Given the description of an element on the screen output the (x, y) to click on. 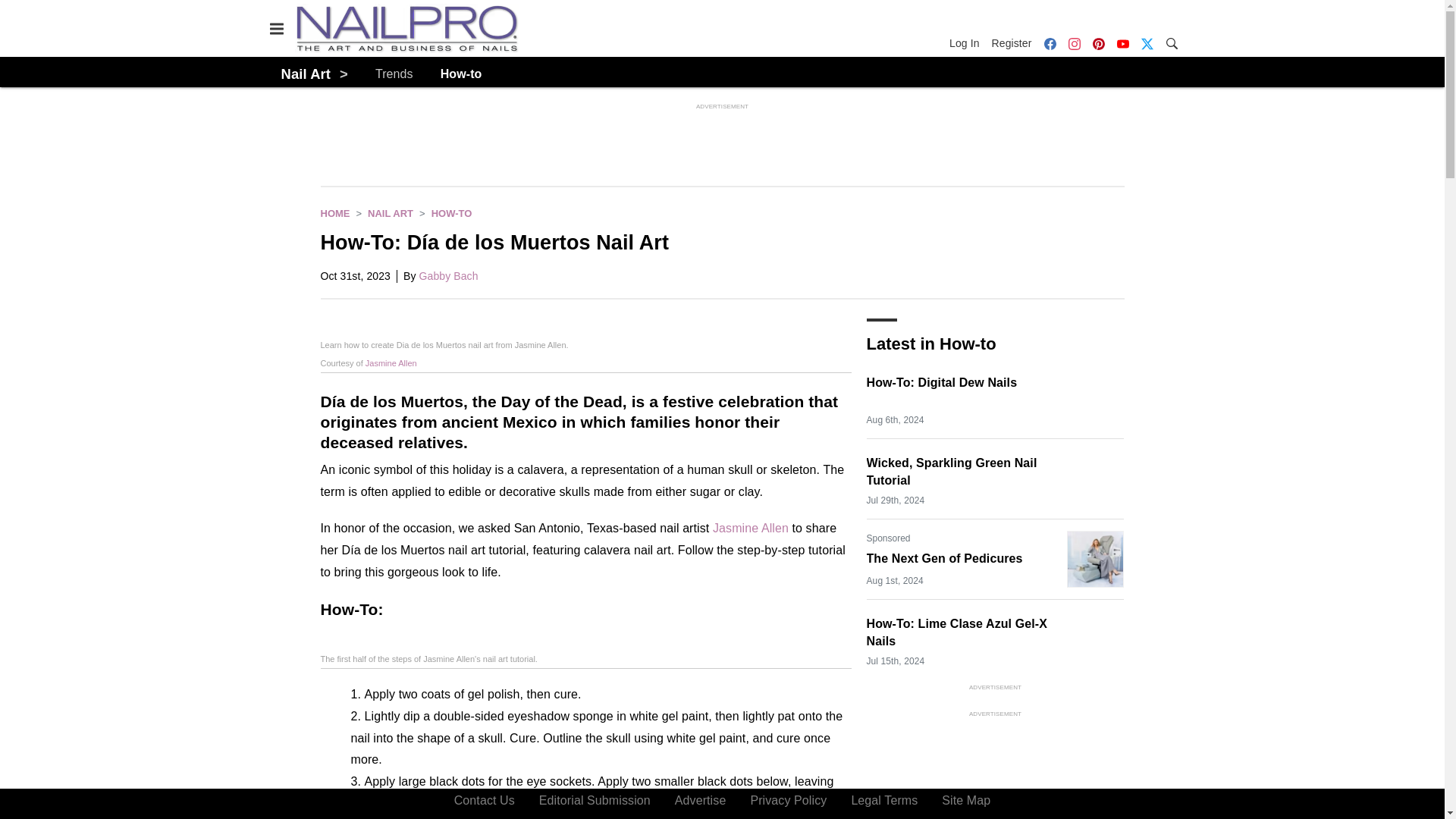
Nail Art (390, 213)
YouTube icon (1122, 43)
How-to (461, 74)
Instagram icon (1073, 43)
Search (1170, 42)
Trends (394, 74)
Instagram icon (1073, 43)
YouTube icon (1121, 43)
How-to (450, 213)
Home (334, 213)
